Given the description of an element on the screen output the (x, y) to click on. 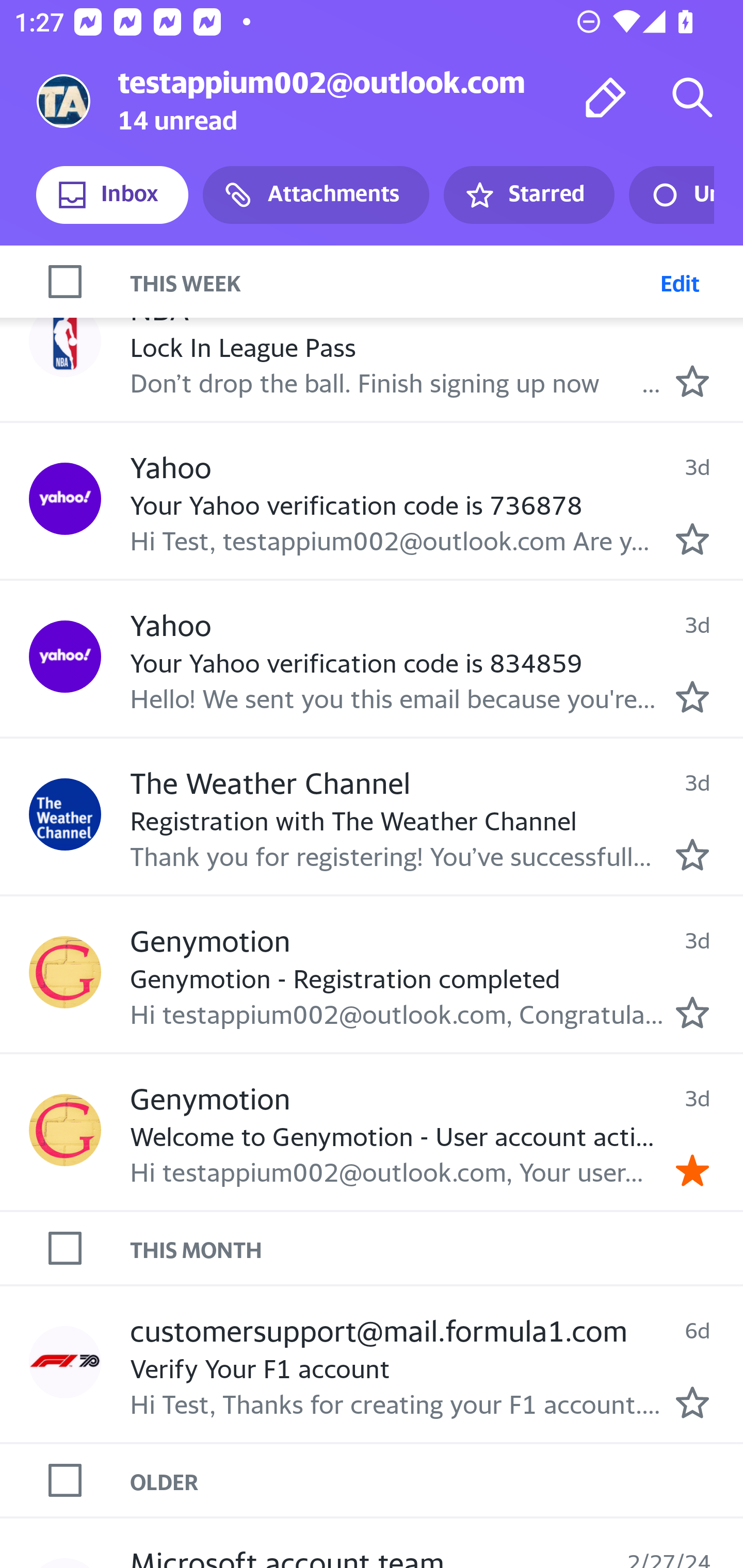
Compose (605, 97)
Search mail (692, 97)
Attachments (315, 195)
Starred (528, 195)
Profile
NBA (64, 340)
Mark as starred. (692, 381)
Profile
Yahoo (64, 498)
Mark as starred. (692, 538)
Profile
Yahoo (64, 656)
Mark as starred. (692, 696)
Profile
The Weather Channel (64, 813)
Mark as starred. (692, 855)
Profile
Genymotion (64, 972)
Mark as starred. (692, 1012)
Profile
Genymotion (64, 1130)
Remove star. (692, 1170)
THIS MONTH (436, 1248)
Profile
customersupport@mail.formula1.com (64, 1362)
Mark as starred. (692, 1402)
OLDER (436, 1480)
